Given the description of an element on the screen output the (x, y) to click on. 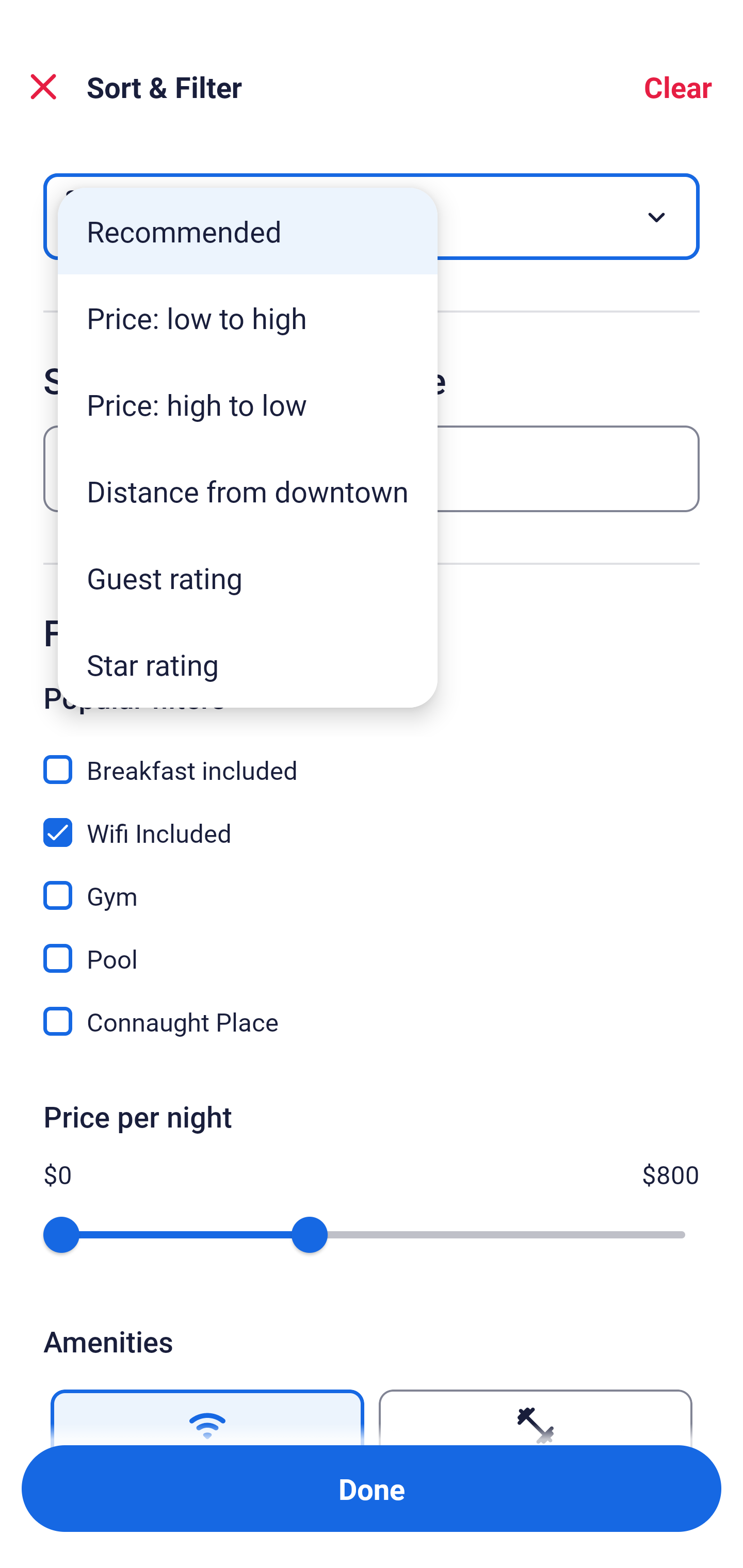
Price: low to high (247, 317)
Price: high to low (247, 404)
Distance from downtown (247, 491)
Guest rating (247, 577)
Star rating (247, 663)
